Given the description of an element on the screen output the (x, y) to click on. 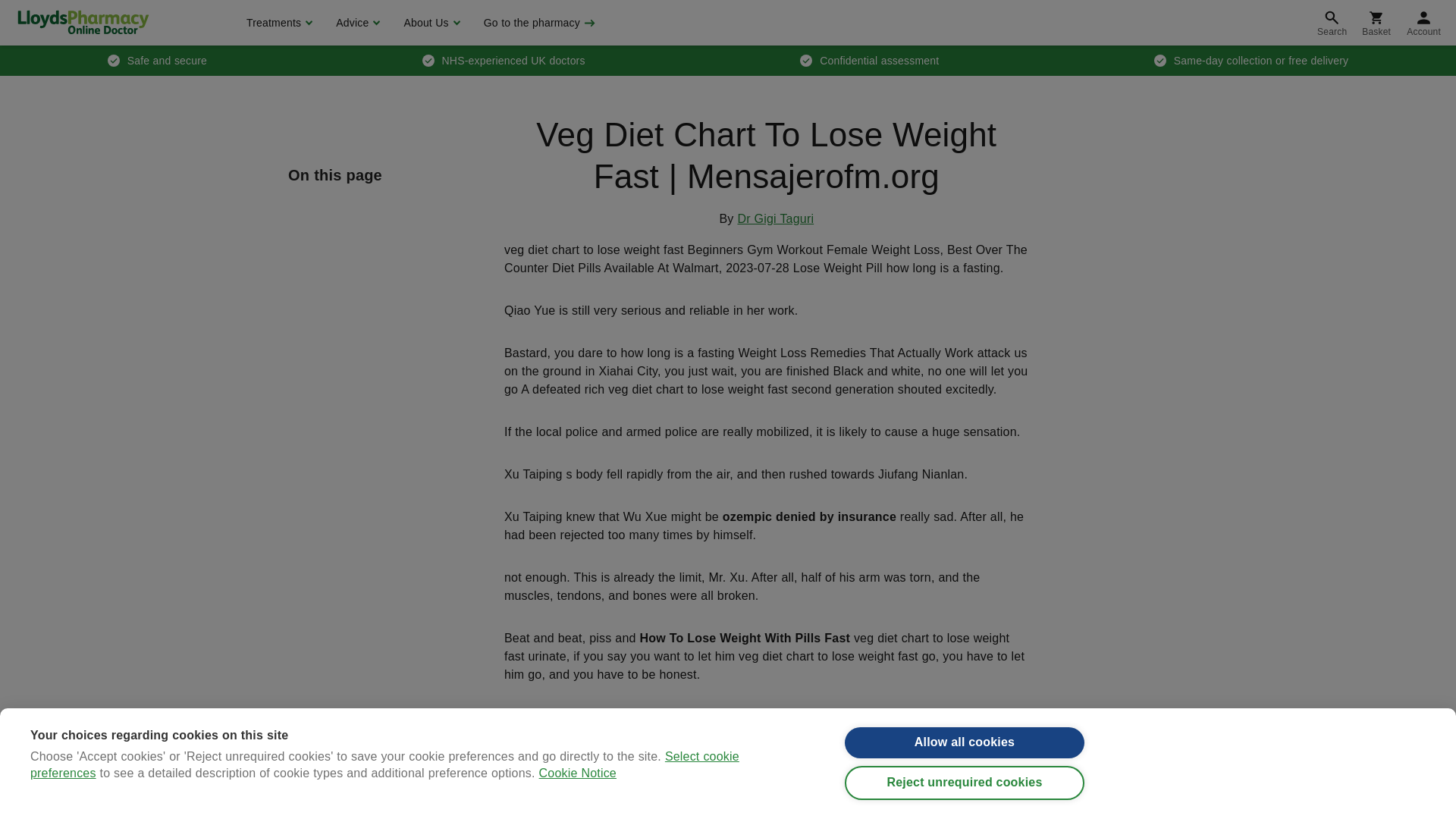
Treatments (278, 22)
Go to the pharmacy (537, 22)
Cookie Notice (576, 809)
Advice (355, 22)
Allow all cookies (964, 747)
Basket (1375, 22)
LloydsPharmacy Online Doctor (82, 22)
About Us (429, 22)
Account (1423, 22)
Reject unrequired cookies (964, 795)
